Given the description of an element on the screen output the (x, y) to click on. 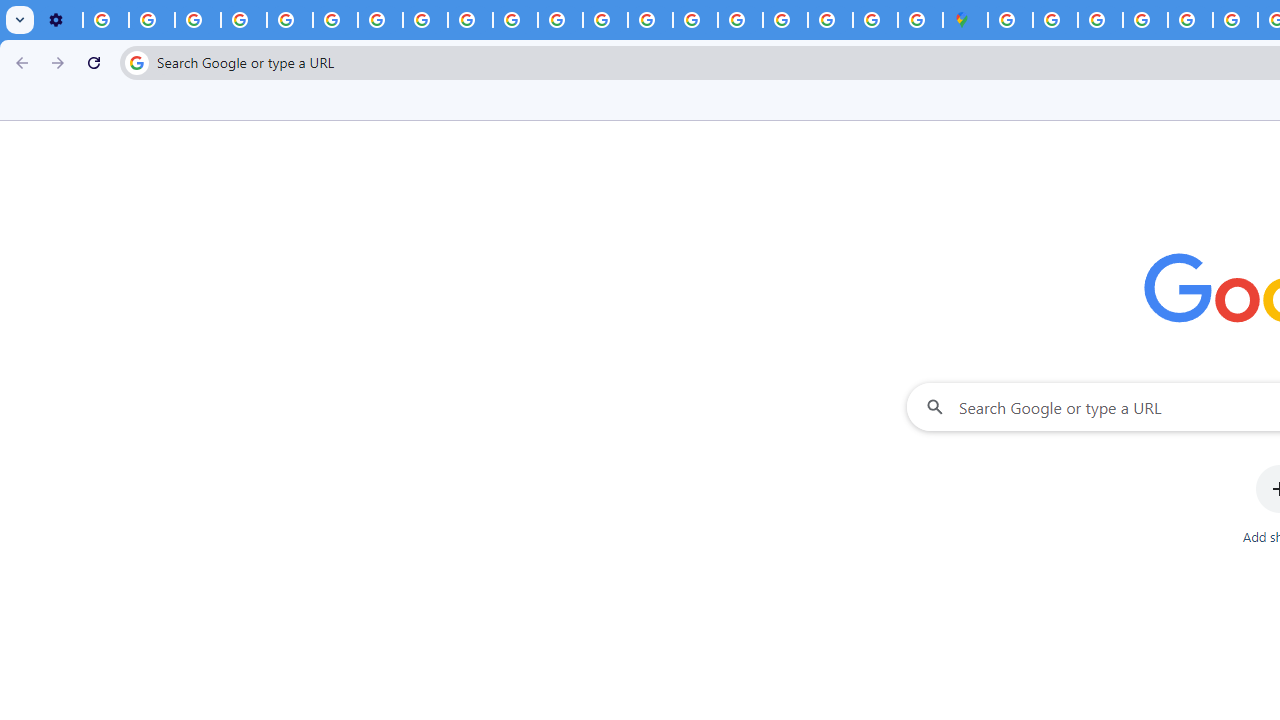
Privacy Help Center - Policies Help (1235, 20)
Privacy Checkup (514, 20)
Sign in - Google Accounts (1010, 20)
Learn how to find your photos - Google Photos Help (152, 20)
Sign in - Google Accounts (784, 20)
Google Account Help (244, 20)
Settings - Customize profile (60, 20)
Search icon (136, 62)
